Given the description of an element on the screen output the (x, y) to click on. 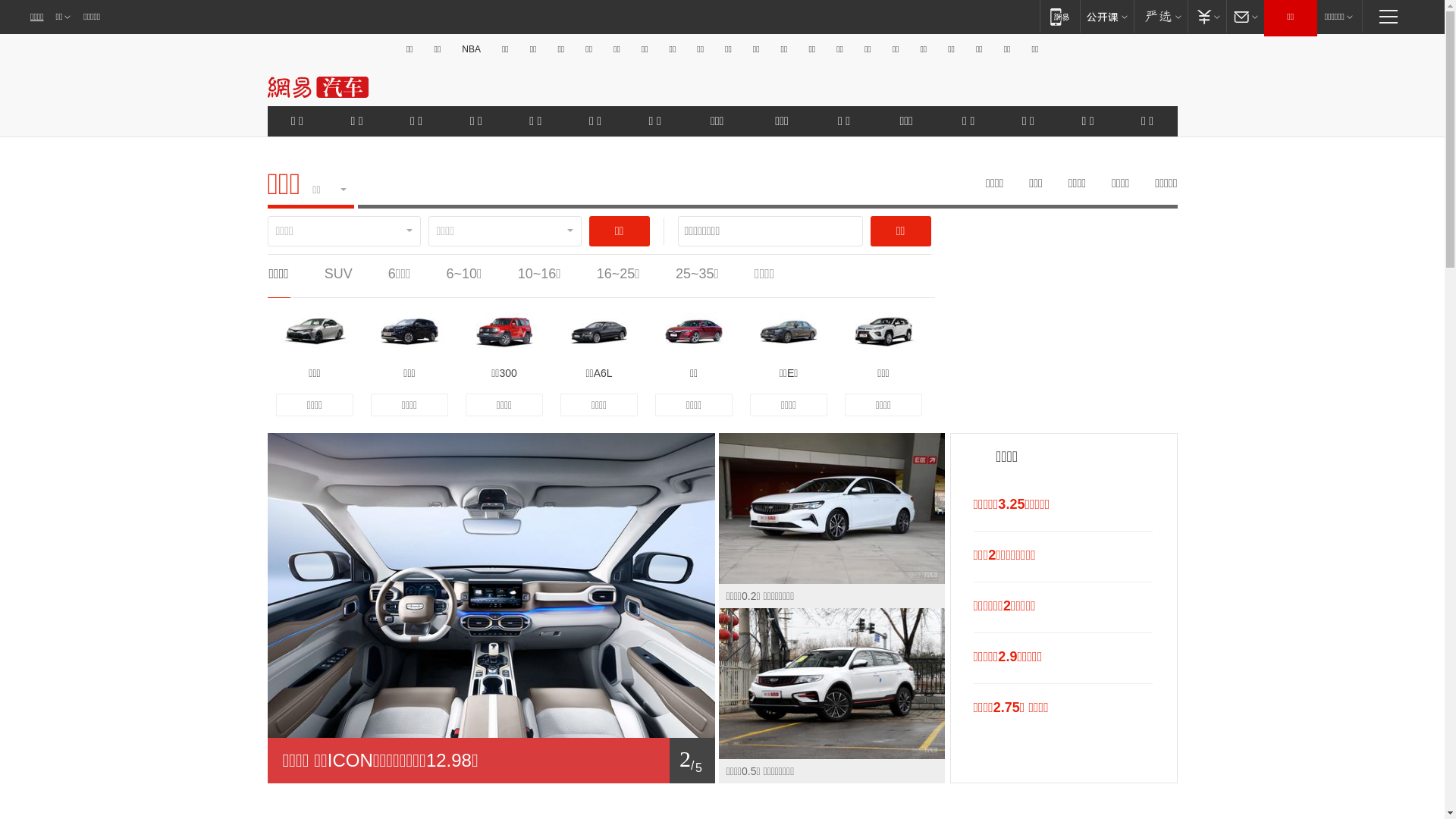
1/ 5 Element type: text (490, 760)
NBA Element type: text (471, 48)
SUV Element type: text (338, 273)
